Given the description of an element on the screen output the (x, y) to click on. 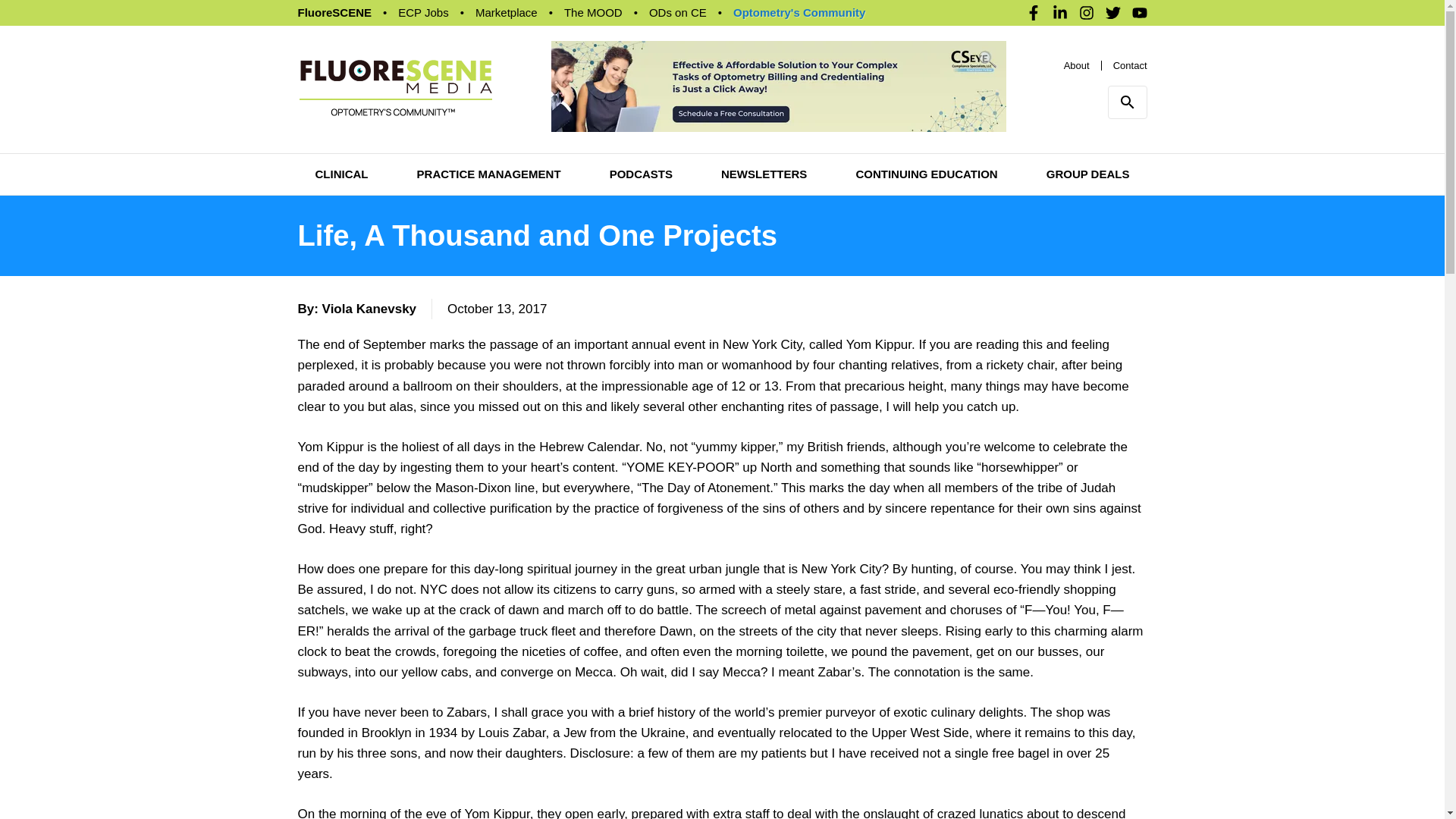
CONTINUING EDUCATION (926, 173)
Contact (1130, 64)
About (1076, 64)
ECP Jobs (422, 11)
The MOOD (593, 11)
PODCASTS (641, 173)
ODs on CE (677, 11)
GROUP DEALS (1088, 173)
Optometry's Community (798, 11)
Marketplace (506, 11)
PRACTICE MANAGEMENT (488, 173)
CLINICAL (341, 173)
NEWSLETTERS (763, 173)
